Given the description of an element on the screen output the (x, y) to click on. 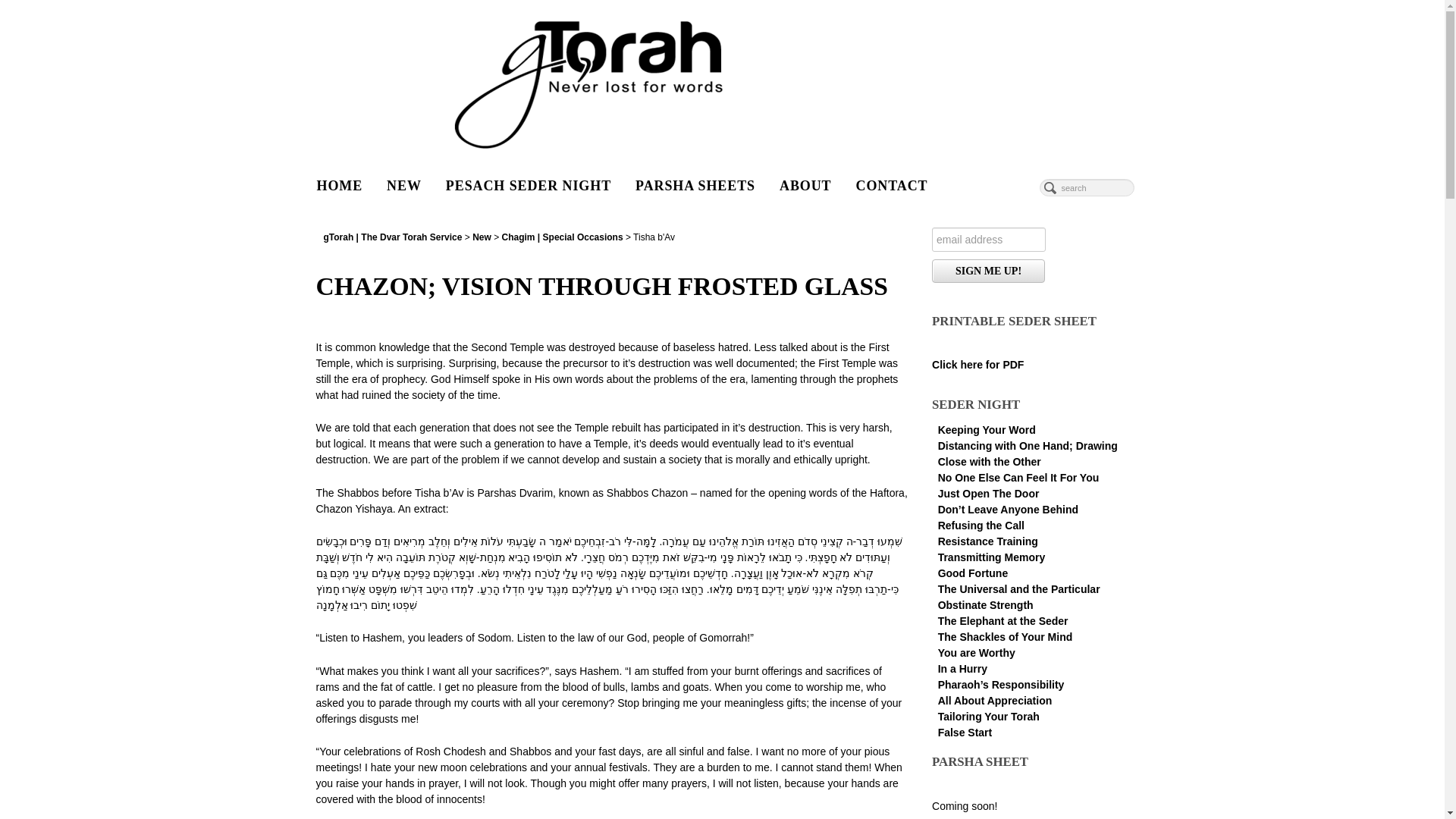
HOME (339, 184)
Transmitting Memory (991, 557)
Refusing the Call (981, 525)
False Start (964, 732)
Go to New. (481, 236)
You are Worthy (975, 653)
Good Fortune (973, 573)
All About Appreciation (994, 700)
In a Hurry (962, 668)
Keeping Your Word (986, 429)
The Elephant at the Seder (1002, 621)
Distancing with One Hand; Drawing Close with the Other (1027, 453)
SIGN ME UP! (988, 270)
No One Else Can Feel It For You (1018, 477)
The Universal and the Particular (1018, 589)
